Given the description of an element on the screen output the (x, y) to click on. 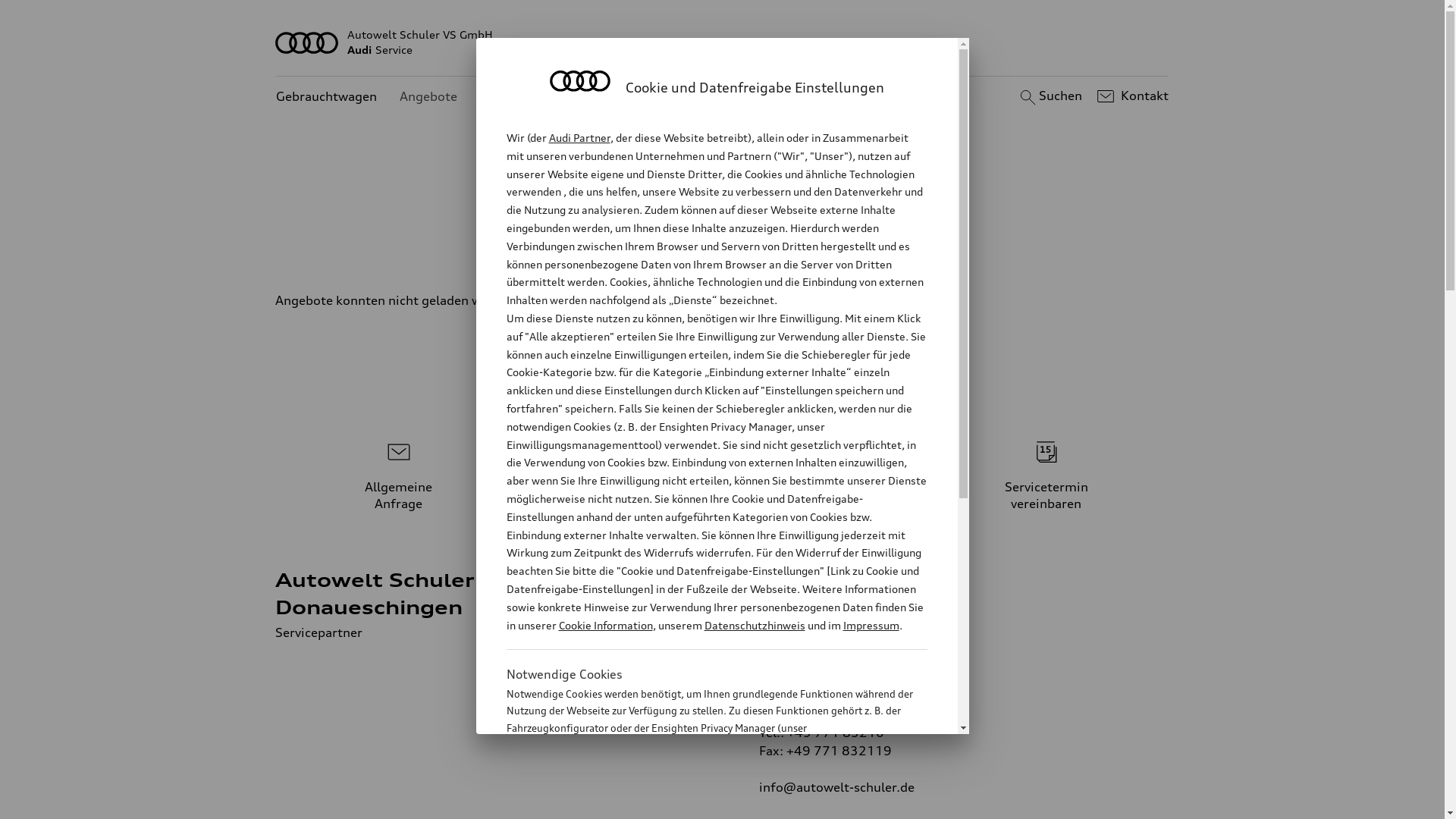
Angebote Element type: text (428, 96)
Kontakt Element type: text (1130, 96)
Fahrzeuge Element type: text (703, 250)
Impressum Element type: text (871, 624)
Datenschutzhinweis Element type: text (753, 624)
Cookie Information Element type: text (605, 624)
Suchen Element type: text (1049, 96)
Servicetermin
vereinbaren Element type: text (1046, 472)
Allgemeine
Anfrage Element type: text (398, 472)
Audi Partner Element type: text (579, 137)
Serviceberater
kontaktieren Element type: text (722, 472)
Service Element type: text (860, 250)
Kundenservice Element type: text (523, 96)
Autowelt Schuler VS GmbH
AudiService Element type: text (722, 42)
Cookie Information Element type: text (700, 802)
+49 771 83210 Element type: text (835, 732)
Alle Angebote Element type: text (604, 250)
info@autowelt-schuler.de Element type: text (835, 787)
Gebrauchtwagen Element type: text (326, 96)
